Given the description of an element on the screen output the (x, y) to click on. 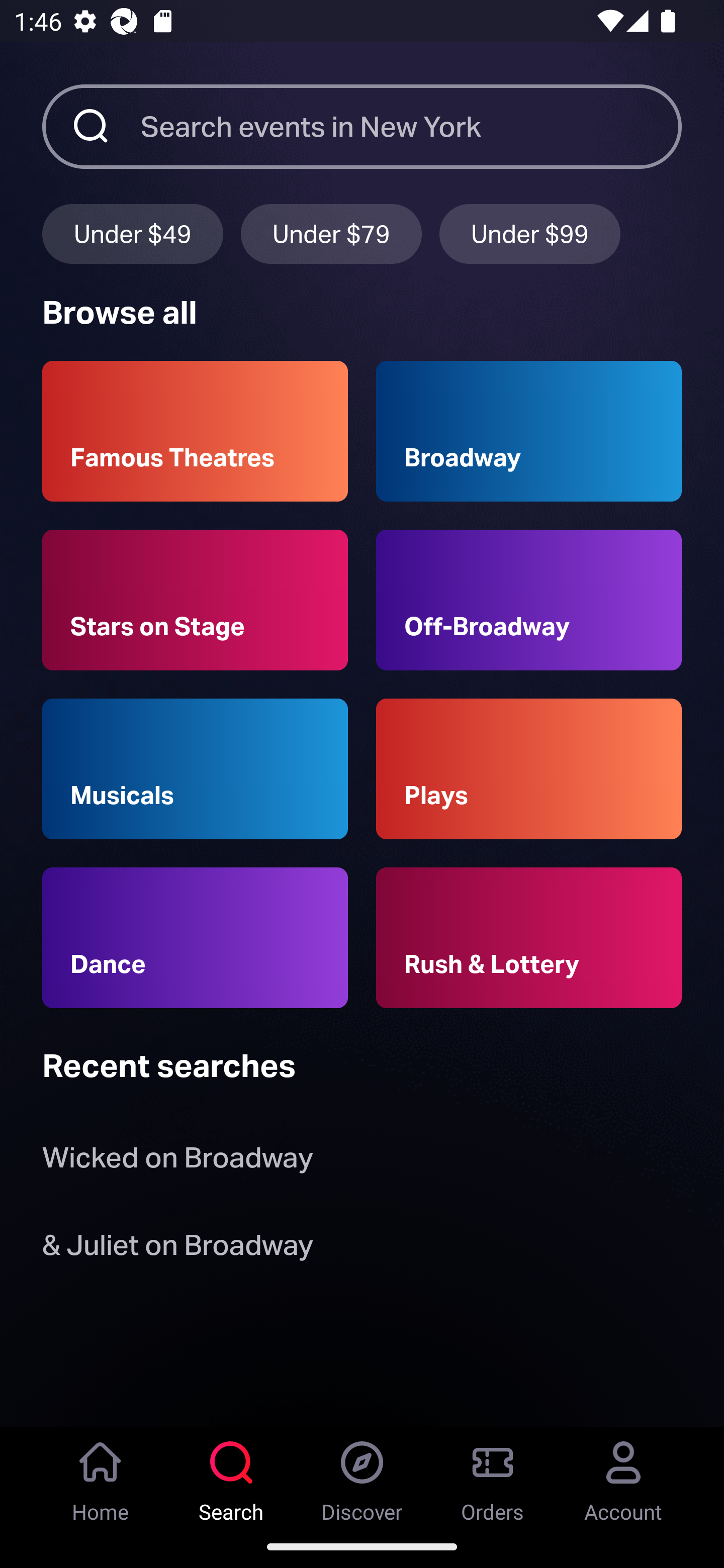
Search events in New York (411, 126)
Under $49 (131, 233)
Under $79 (331, 233)
Under $99 (529, 233)
Famous Theatres (194, 430)
Broadway (528, 430)
Stars on Stage (194, 600)
Off-Broadway (528, 600)
Musicals (194, 768)
Plays (528, 768)
Dance (194, 937)
Rush & Lottery (528, 937)
Wicked on Broadway (177, 1161)
& Juliet on Broadway  (180, 1248)
Home (100, 1475)
Discover (361, 1475)
Orders (492, 1475)
Account (623, 1475)
